Given the description of an element on the screen output the (x, y) to click on. 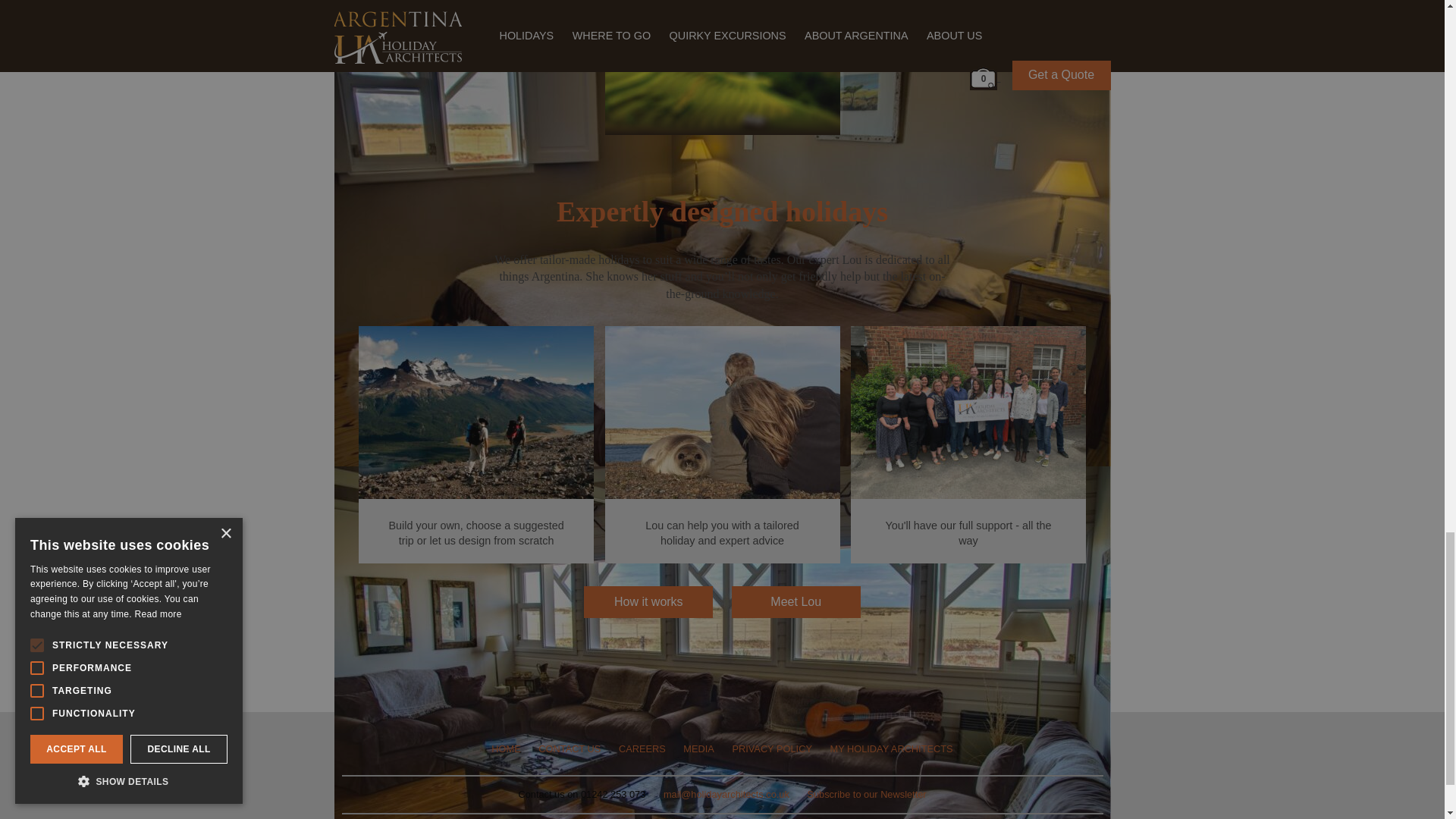
MEDIA (698, 748)
MY HOLIDAY ARCHITECTS (890, 748)
Meet Lou (795, 594)
HOME (505, 748)
How it works (648, 594)
PRIVACY POLICY (772, 748)
CAREERS (641, 748)
CONTACT US (568, 748)
